Given the description of an element on the screen output the (x, y) to click on. 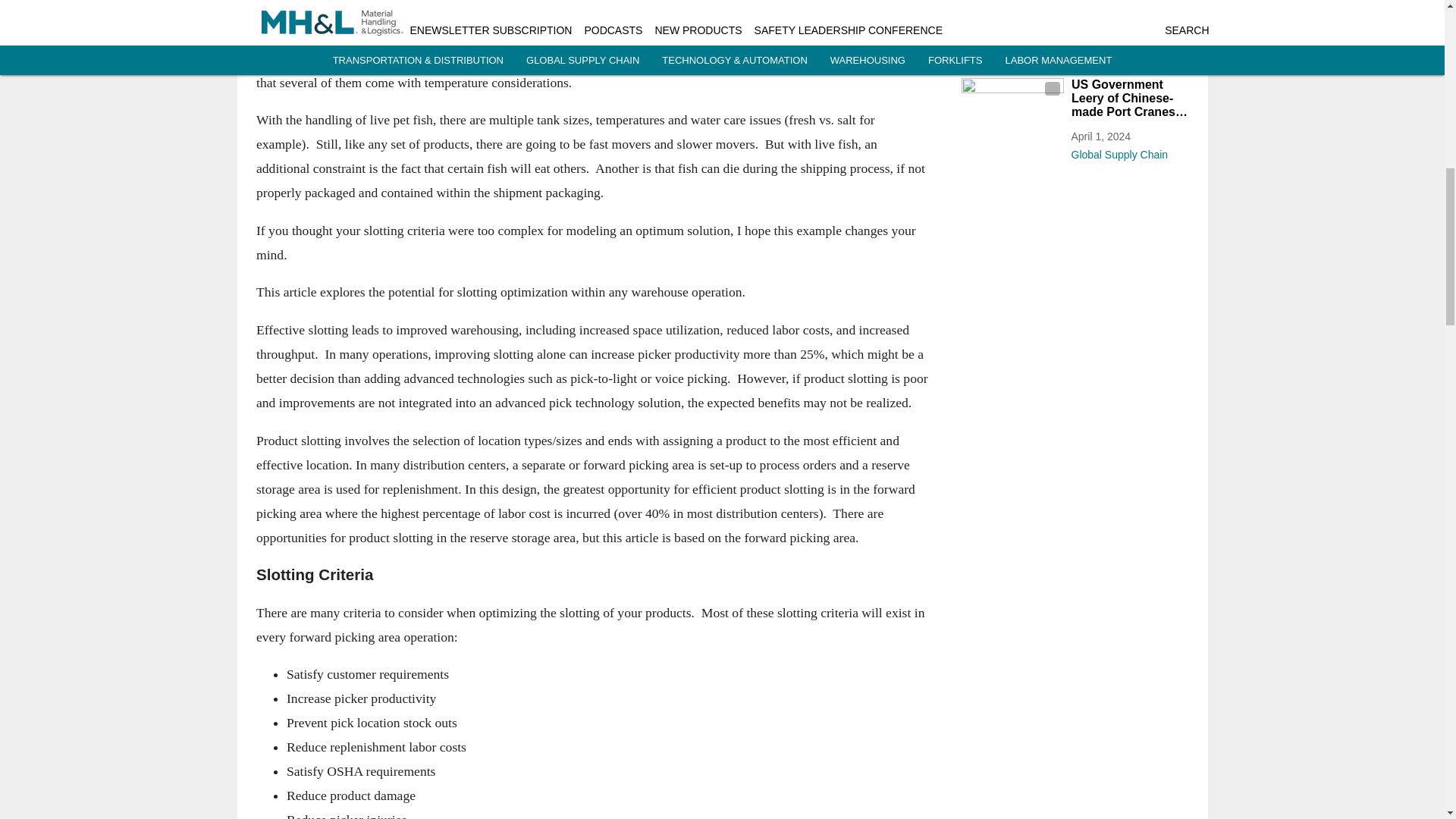
Global Supply Chain (1129, 151)
RIP John Hill, Industry Icon (1129, 11)
News (1129, 55)
